Given the description of an element on the screen output the (x, y) to click on. 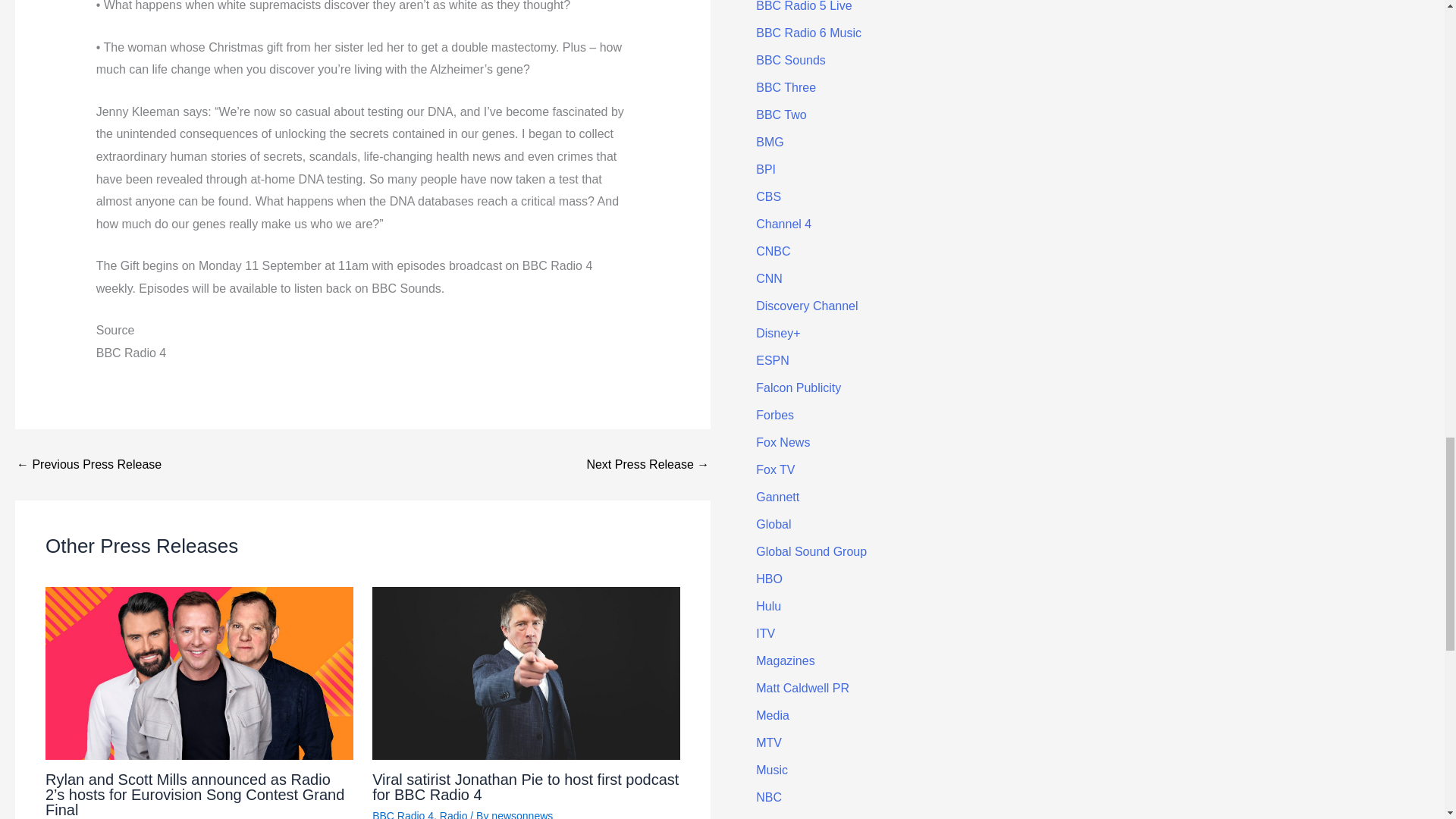
View all posts by newsonnews (522, 814)
